Given the description of an element on the screen output the (x, y) to click on. 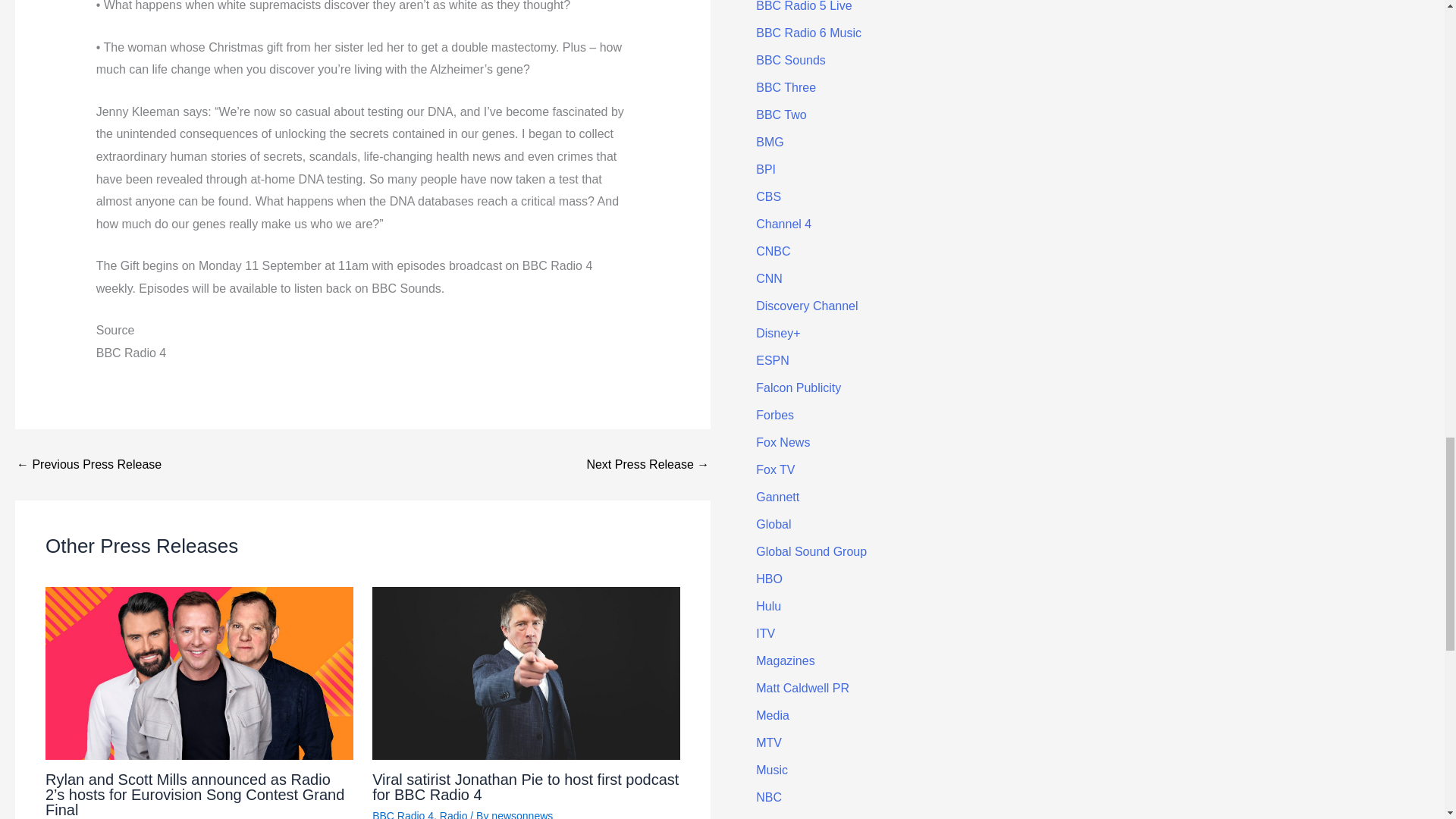
View all posts by newsonnews (522, 814)
